Given the description of an element on the screen output the (x, y) to click on. 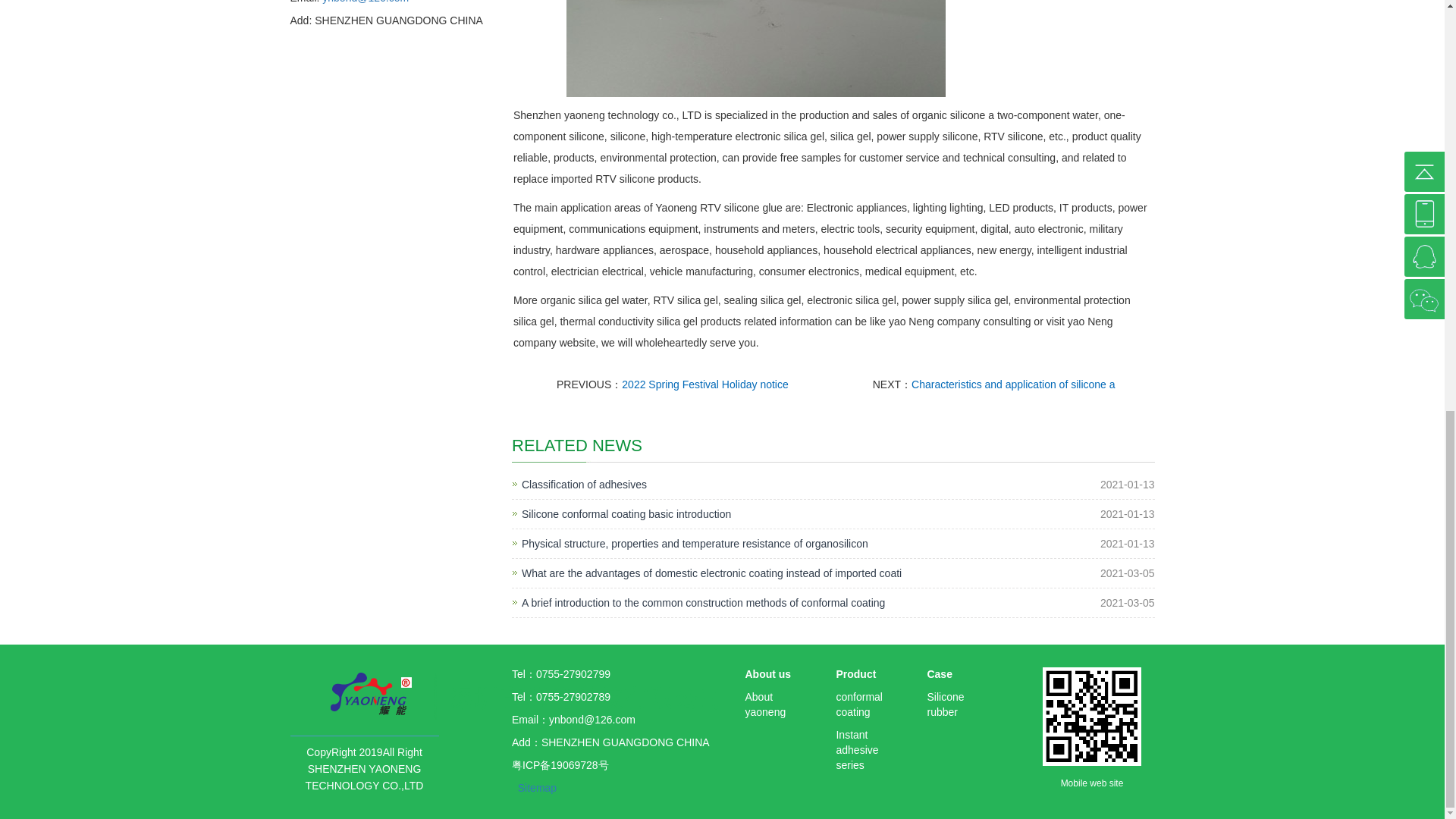
2022 Spring Festival Holiday notice (704, 384)
Silicone conformal coating basic introduction (625, 514)
Characteristics and application of silicone adhesive (1013, 384)
Classification of adhesives (583, 484)
